Given the description of an element on the screen output the (x, y) to click on. 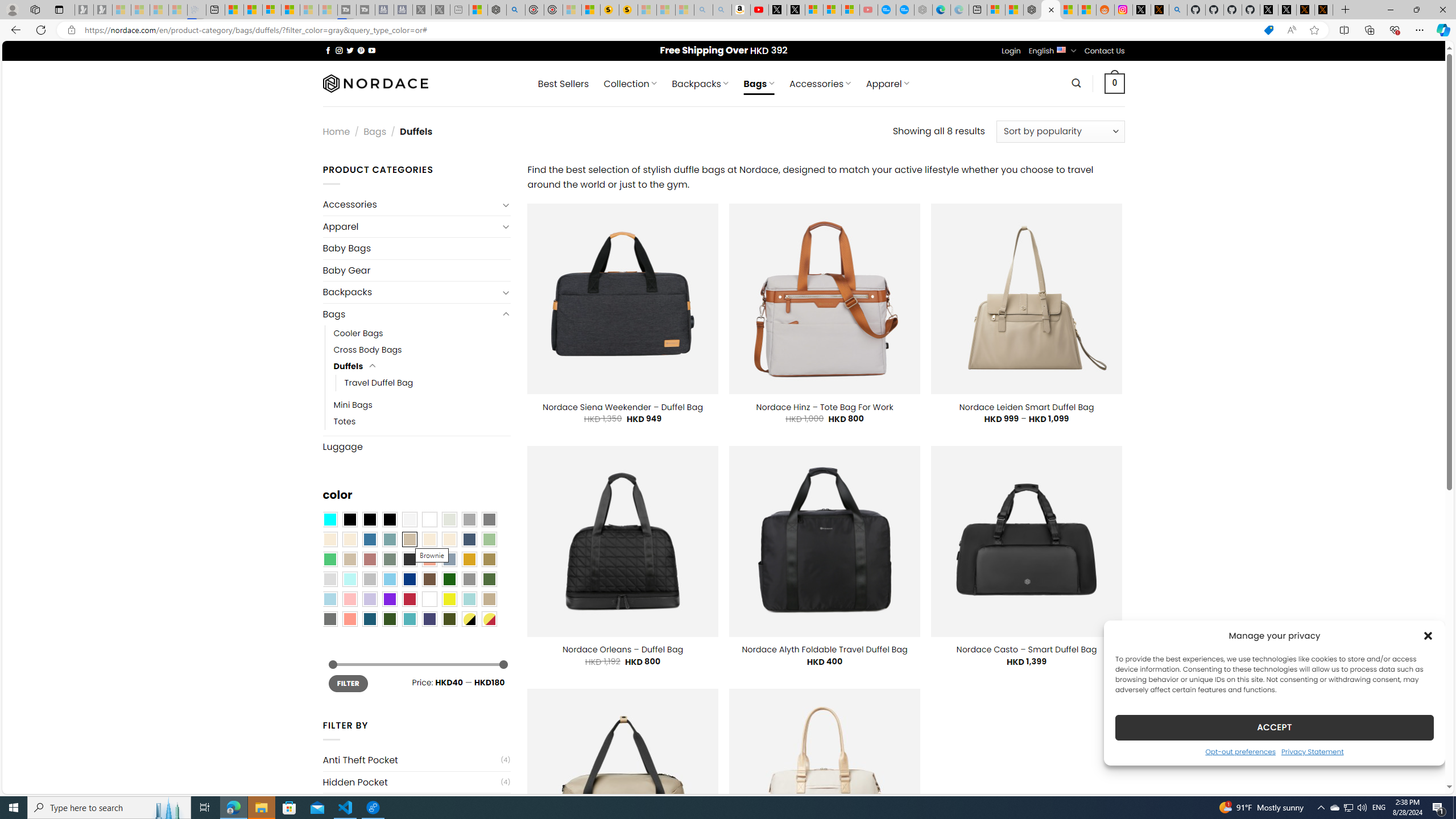
Emerald Green (329, 559)
github - Search (1178, 9)
Follow on Pinterest (360, 49)
Profile / X (1268, 9)
Silver (369, 579)
Hidden Pocket (410, 782)
English (1061, 49)
Aqua Blue (329, 519)
FILTER (347, 683)
Mini Bags (422, 404)
